Given the description of an element on the screen output the (x, y) to click on. 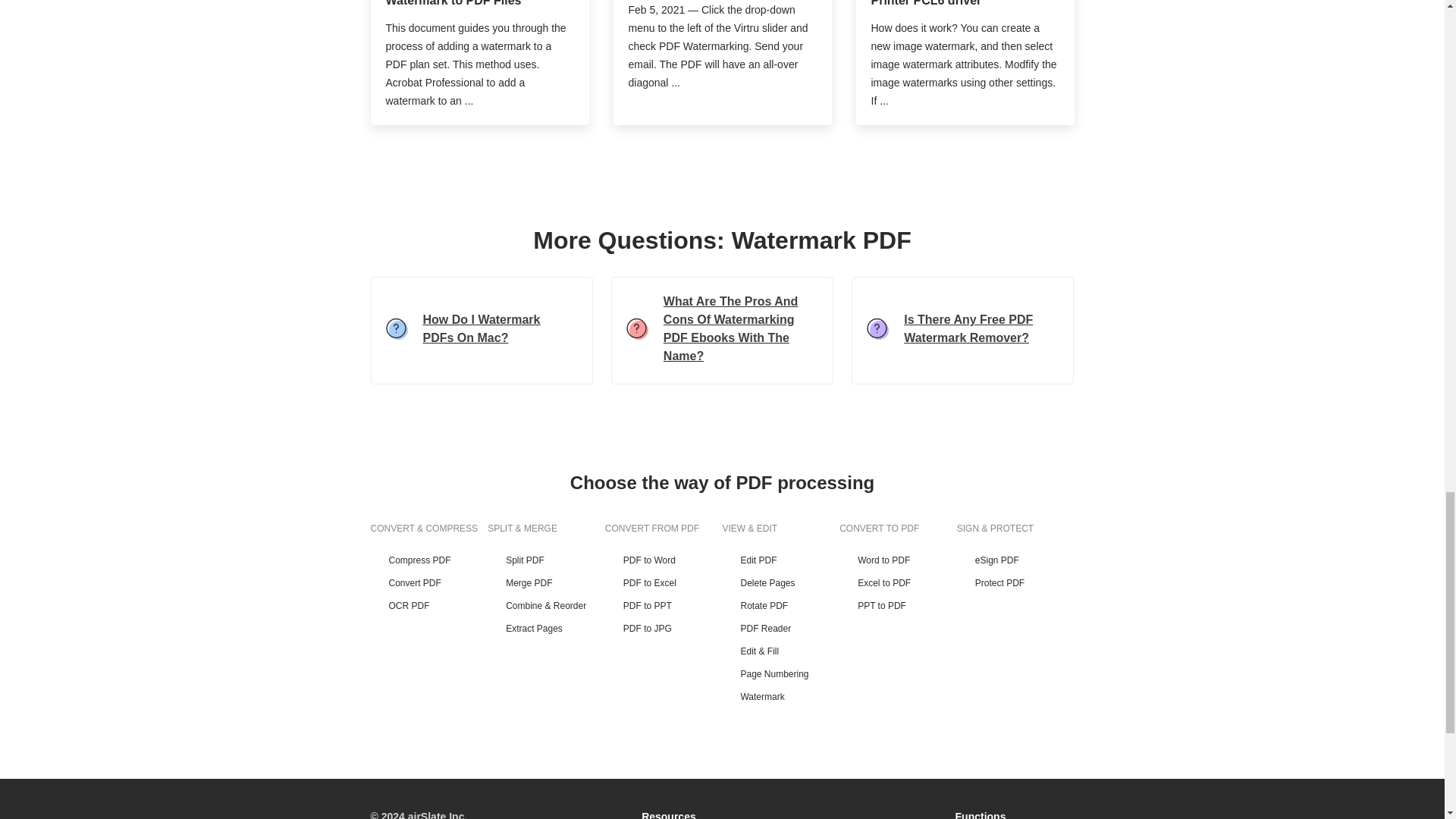
PDF to Excel (663, 582)
Delete Pages (781, 582)
Rotate PDF (781, 605)
Excel to PDF (898, 582)
Protect PDF (1015, 582)
PDF Reader (781, 628)
Merge PDF (546, 582)
Is There Any Free PDF Watermark Remover? (962, 330)
eSign PDF (1015, 560)
PDF to Word (663, 560)
OCR PDF (428, 605)
PDF to JPG (663, 628)
PPT to PDF (898, 605)
Compress PDF (428, 560)
